Given the description of an element on the screen output the (x, y) to click on. 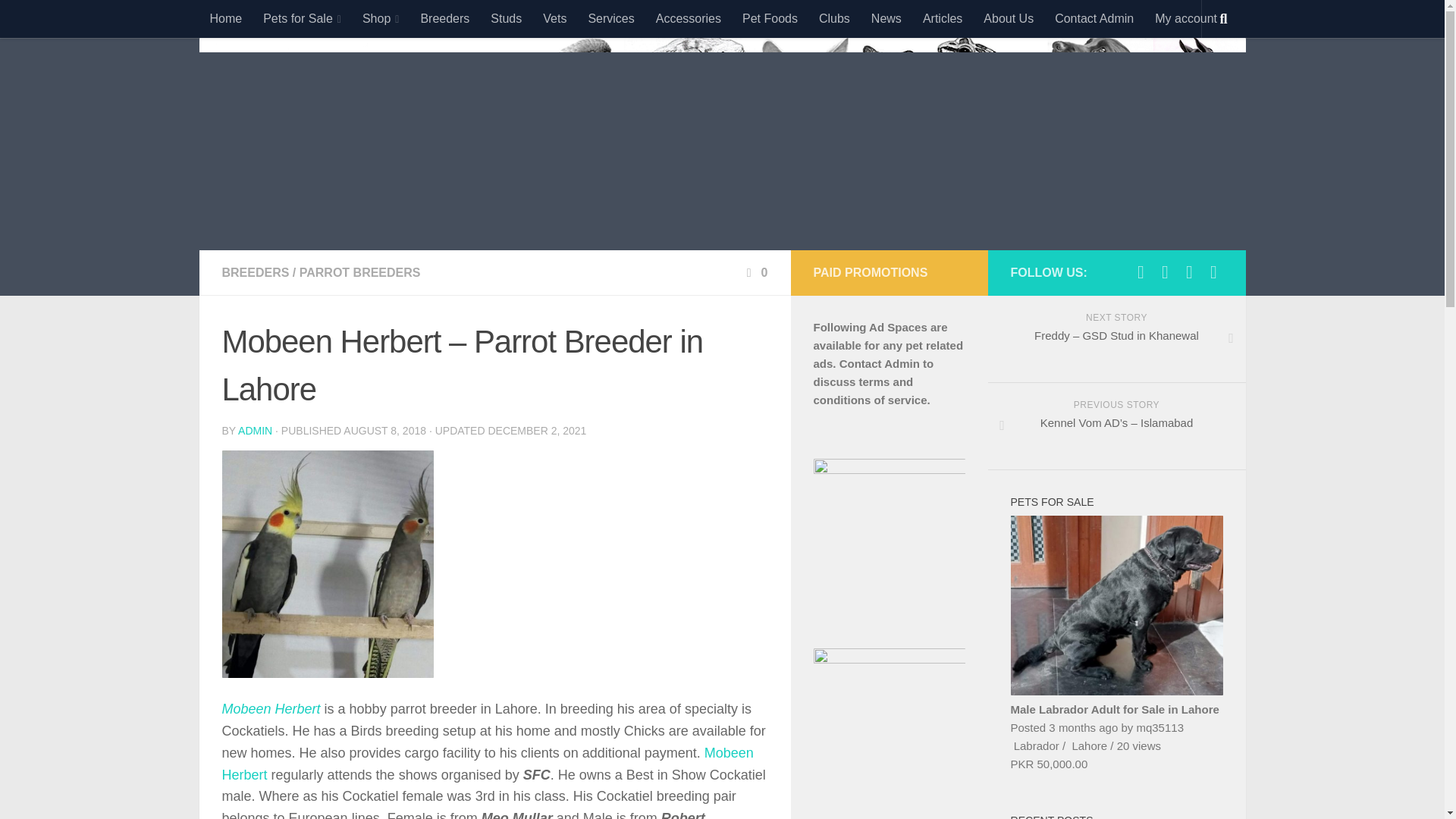
Home (224, 18)
Studs (506, 18)
Pets for Sale (301, 18)
About Us (1007, 18)
Posts by Admin (255, 430)
Follow us on Twitter (1164, 271)
News (886, 18)
Clubs (834, 18)
Accessories (688, 18)
Breeders (444, 18)
